Given the description of an element on the screen output the (x, y) to click on. 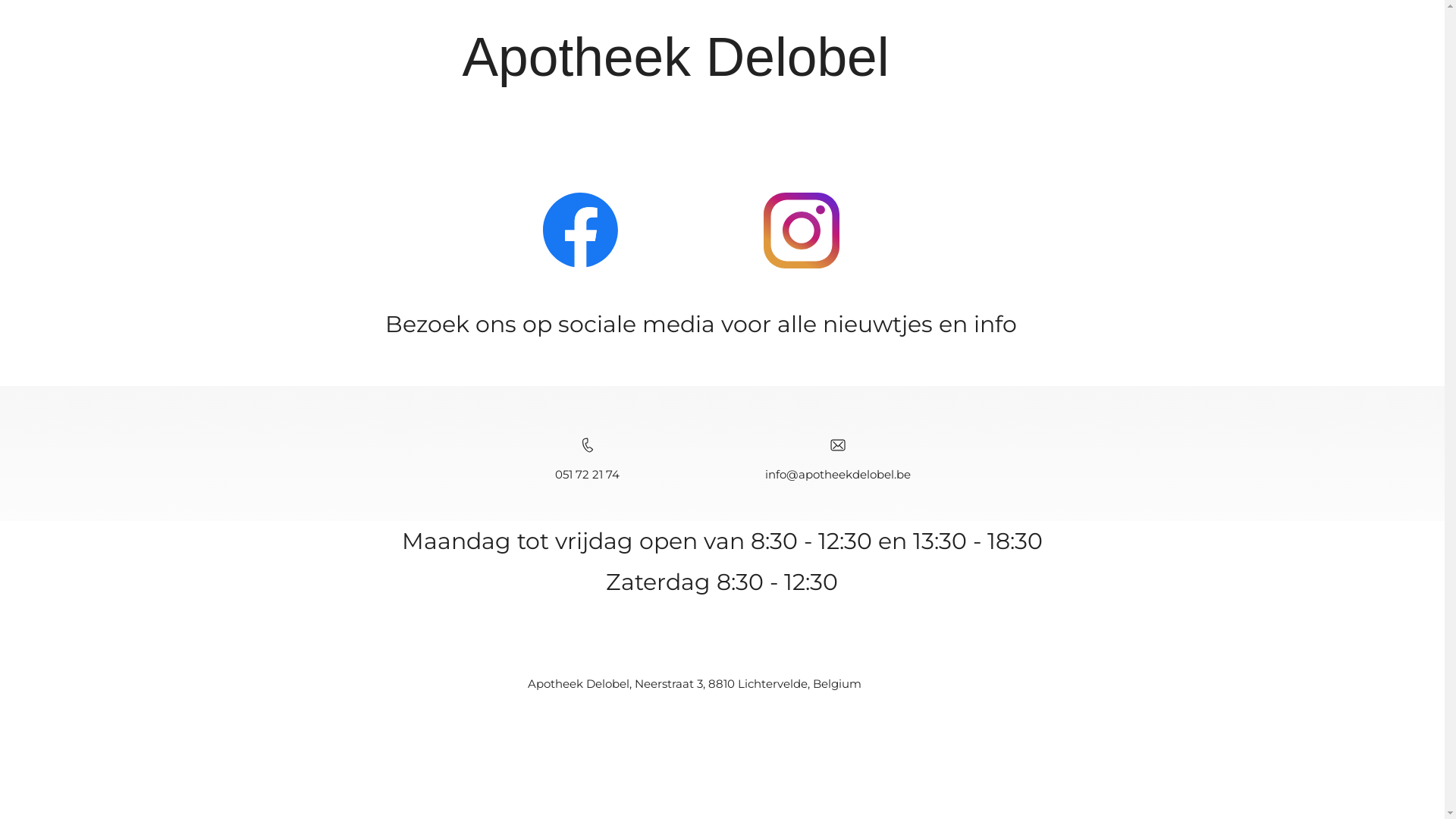
051 72 21 74 Element type: text (587, 474)
Apotheek Delobel, Neerstraat 3, 8810 Lichtervelde, Belgium Element type: text (694, 683)
info@apotheekdelobel.be Element type: text (837, 474)
